Given the description of an element on the screen output the (x, y) to click on. 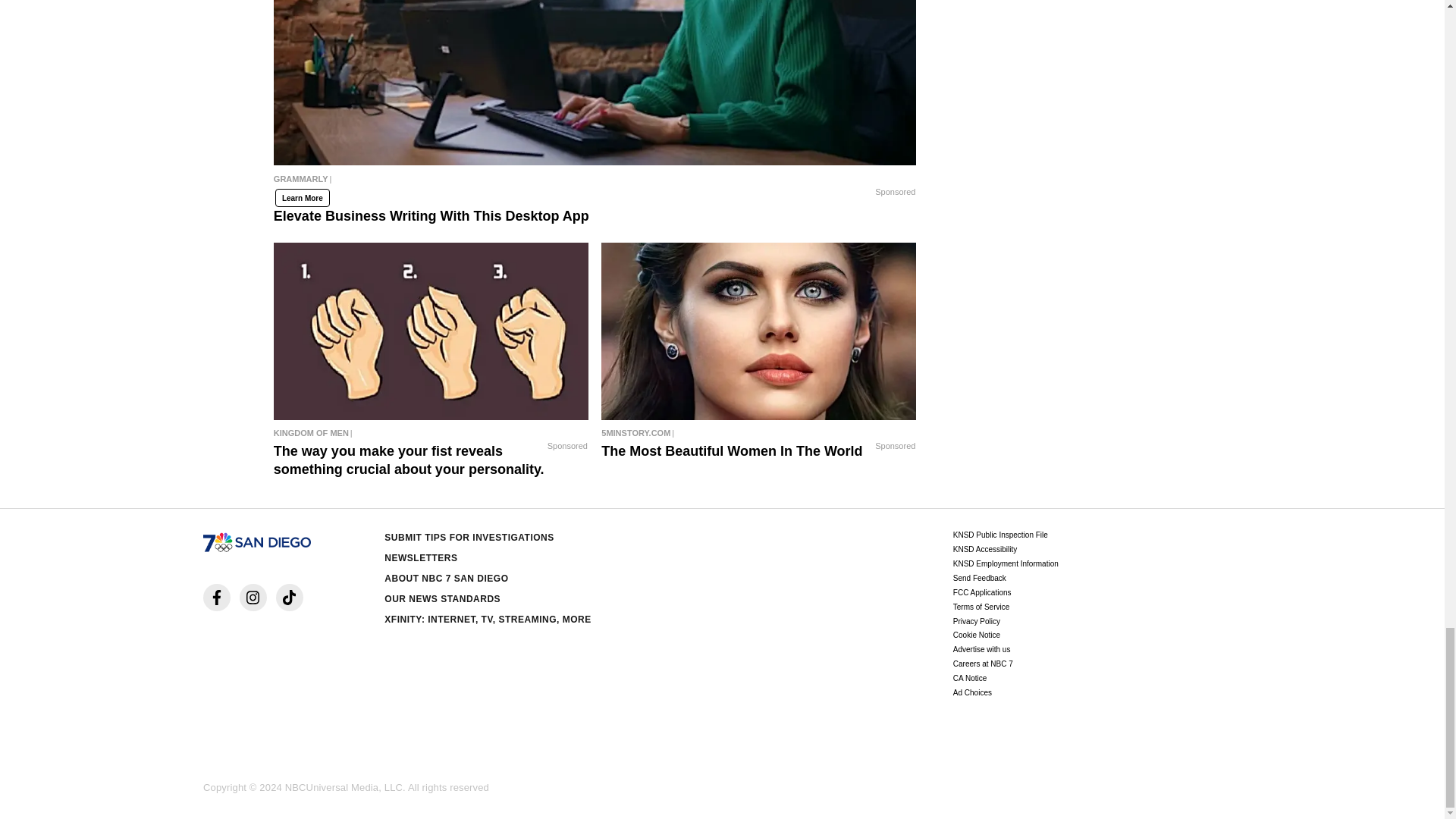
The Most Beautiful Women In The World (758, 331)
Elevate Business Writing With This Desktop App (595, 82)
Elevate Business Writing With This Desktop App (595, 182)
The Most Beautiful Women In The World (758, 433)
